Given the description of an element on the screen output the (x, y) to click on. 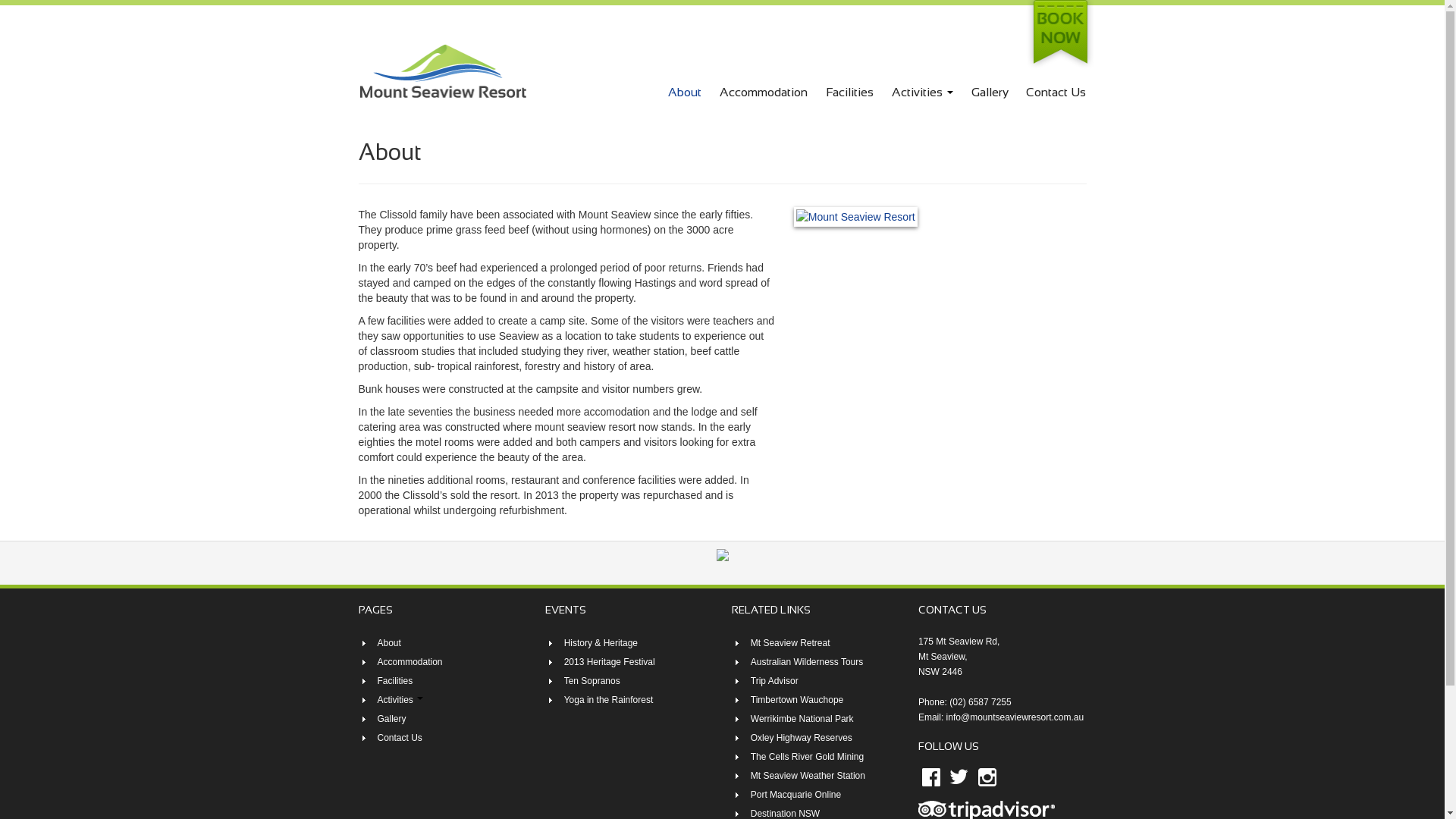
About Element type: text (389, 642)
Contact Us Element type: text (399, 737)
Trip Advisor Element type: text (774, 680)
Activities Element type: text (922, 92)
Mount Seaview Resort Element type: hover (441, 69)
Mt Seaview Retreat Element type: text (790, 642)
About Element type: text (684, 92)
The Cells River Gold Mining Element type: text (806, 756)
Port Macquarie Online Element type: text (795, 794)
Facilities Element type: text (395, 680)
Facilities Element type: text (849, 92)
Mount Seaview Resort Element type: hover (441, 70)
Mt Seaview Weather Station Element type: text (807, 775)
Contact Us Element type: text (1055, 92)
Accommodation Element type: text (409, 661)
info@mountseaviewresort.com.au Element type: text (1015, 717)
Werrikimbe National Park Element type: text (801, 718)
Activities Element type: text (400, 699)
Accommodation Element type: text (763, 92)
Yoga in the Rainforest Element type: text (608, 699)
Book Now Element type: hover (1059, 34)
History & Heritage Element type: text (600, 642)
Ten Sopranos Element type: text (592, 680)
Timbertown Wauchope Element type: text (797, 699)
Gallery Element type: text (391, 718)
Australian Wilderness Tours Element type: text (806, 661)
Oxley Highway Reserves Element type: text (801, 737)
Gallery Element type: text (989, 92)
2013 Heritage Festival Element type: text (609, 661)
